Given the description of an element on the screen output the (x, y) to click on. 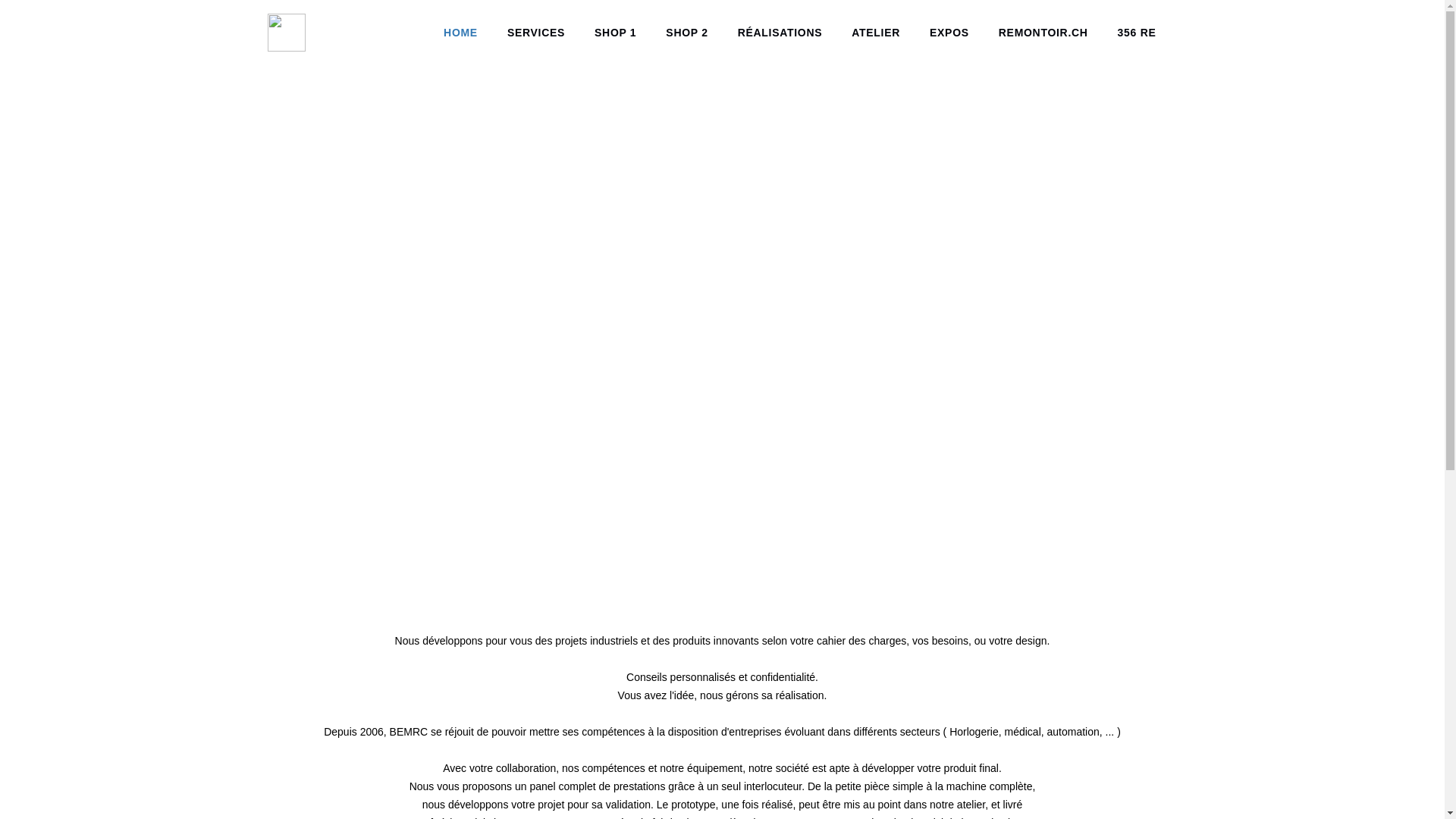
EXPOS Element type: text (949, 32)
REMONTOIR.CH Element type: text (1043, 32)
HOME Element type: text (460, 32)
SHOP 2 Element type: text (686, 32)
SERVICES Element type: text (535, 32)
SHOP 1 Element type: text (615, 32)
ATELIER Element type: text (875, 32)
356 RE Element type: text (1136, 32)
